Given the description of an element on the screen output the (x, y) to click on. 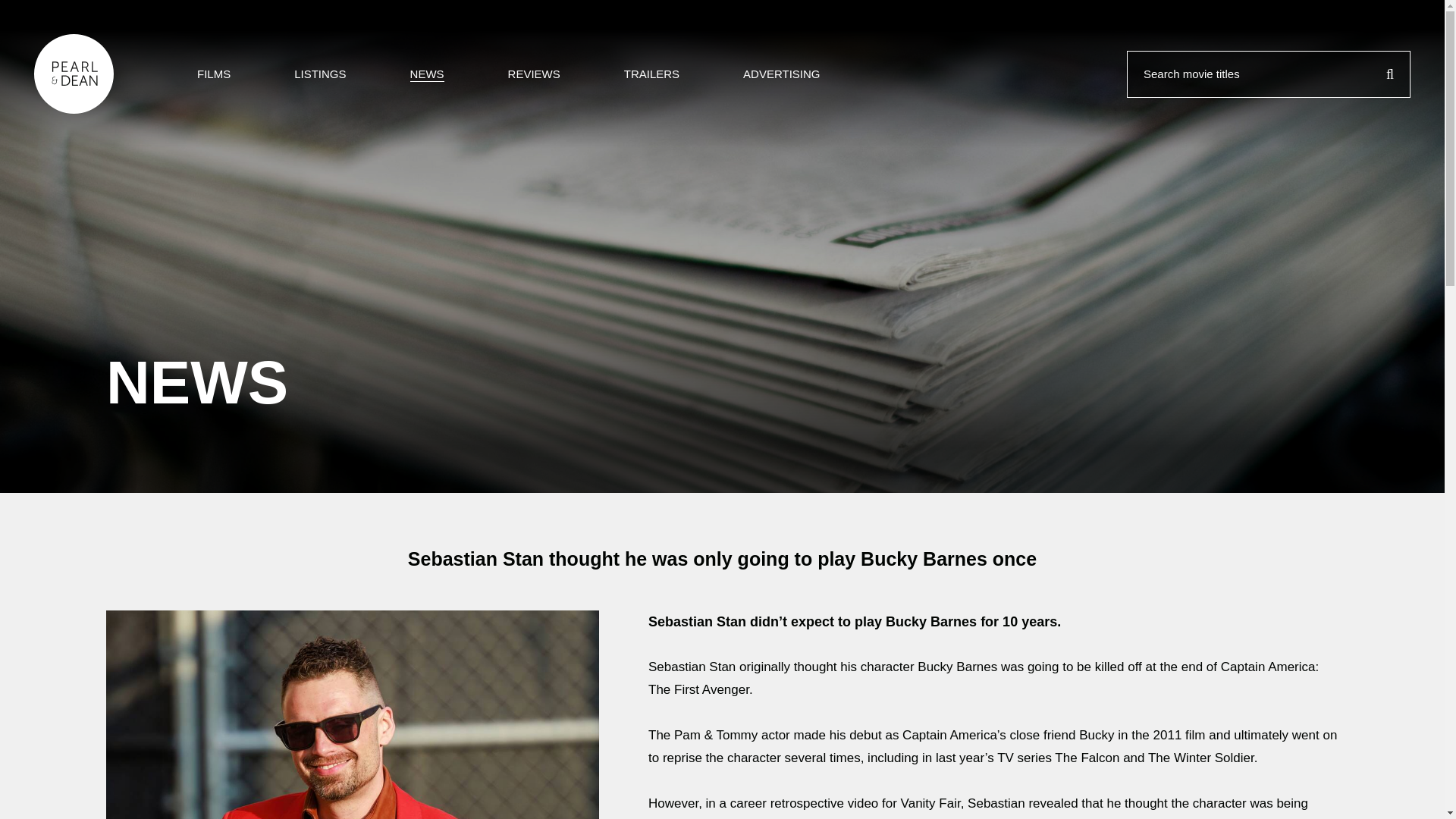
FILMS (213, 73)
LISTINGS (320, 73)
NEWS (427, 73)
TRAILERS (651, 73)
ADVERTISING (780, 73)
REVIEWS (534, 73)
